Given the description of an element on the screen output the (x, y) to click on. 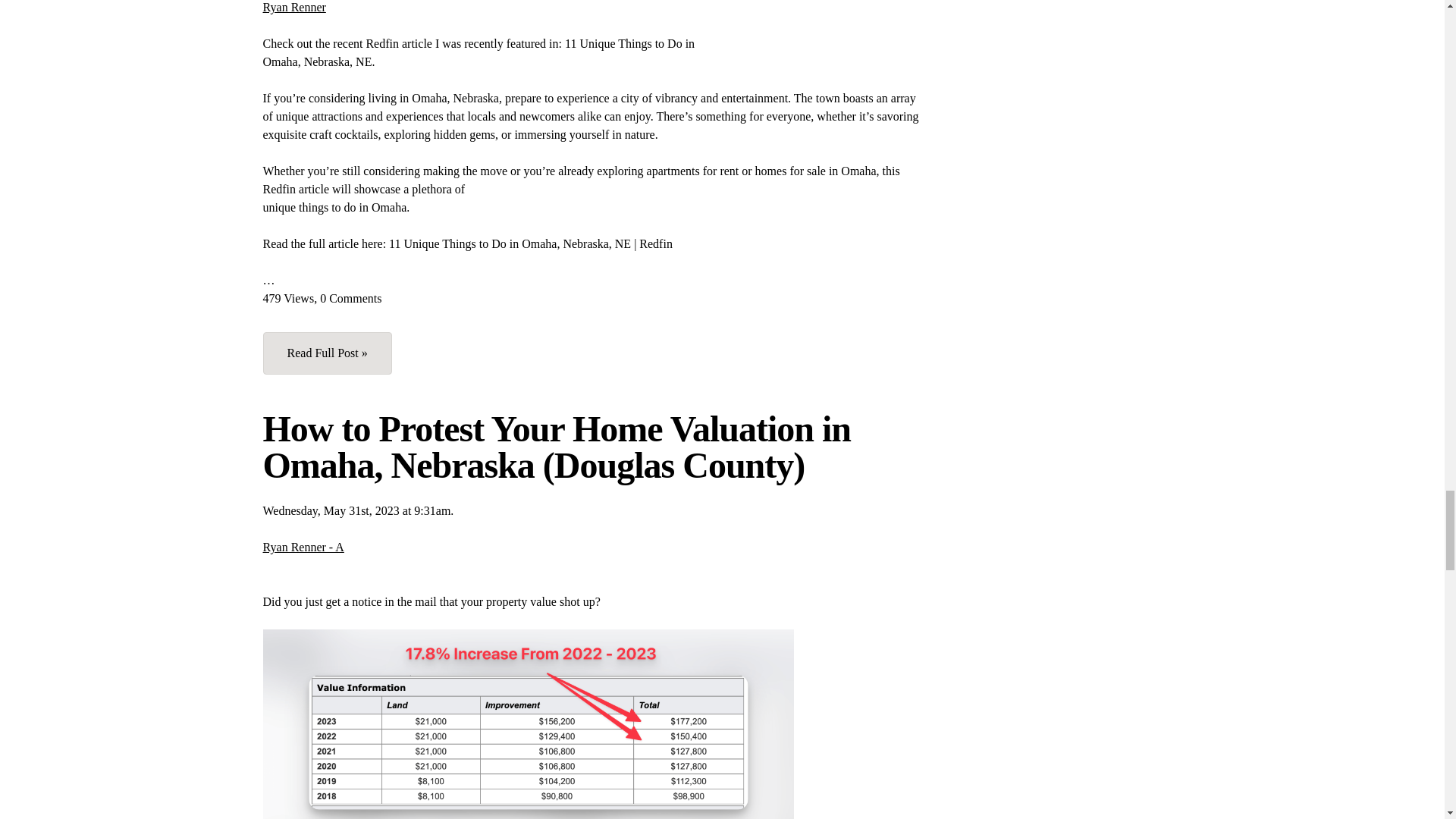
Ryan Renner (293, 6)
Ryan Renner - A (302, 546)
